Given the description of an element on the screen output the (x, y) to click on. 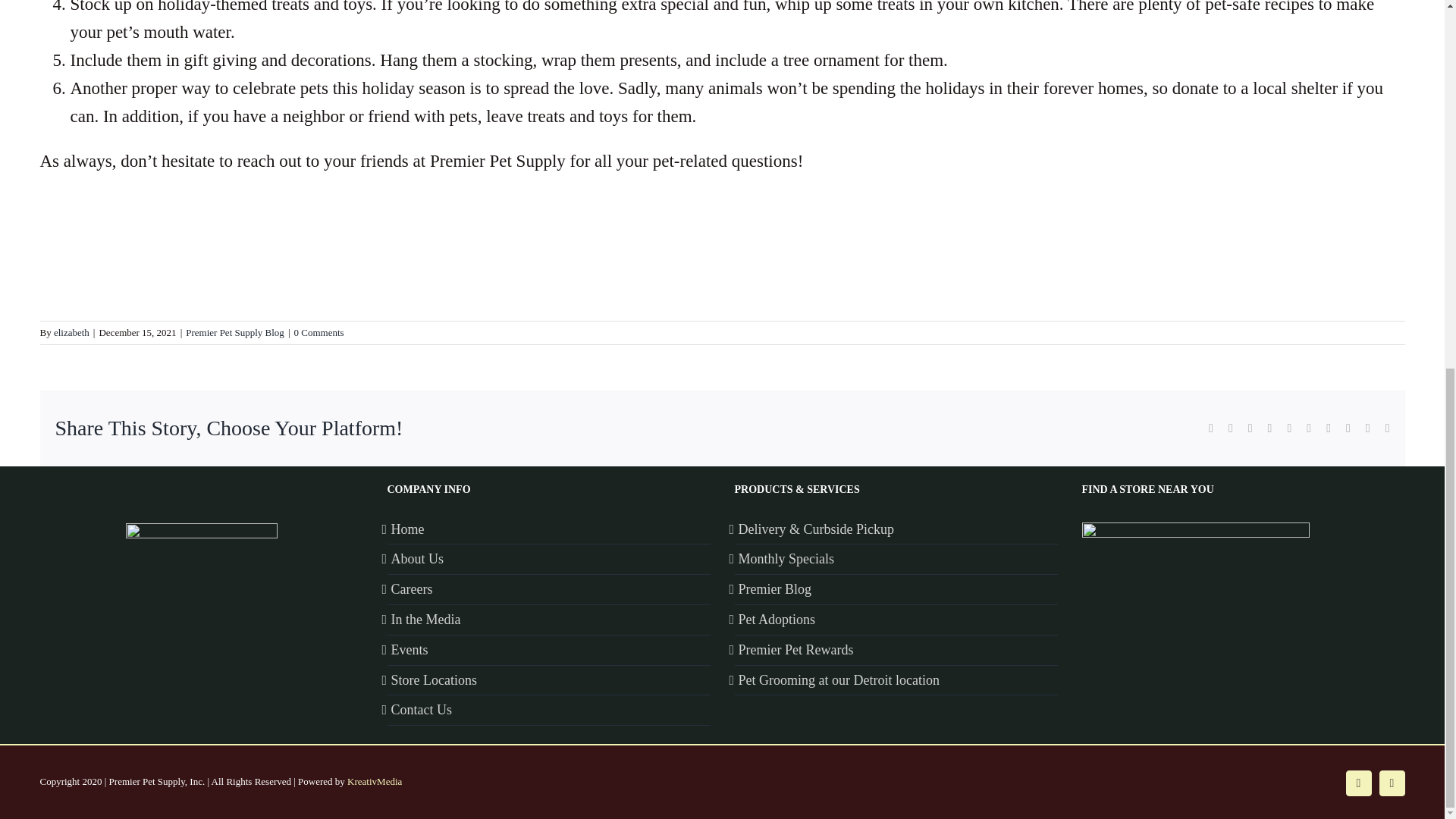
Premier Pet Supply Blog (234, 332)
elizabeth (70, 332)
Posts by elizabeth (70, 332)
0 Comments (318, 332)
